Given the description of an element on the screen output the (x, y) to click on. 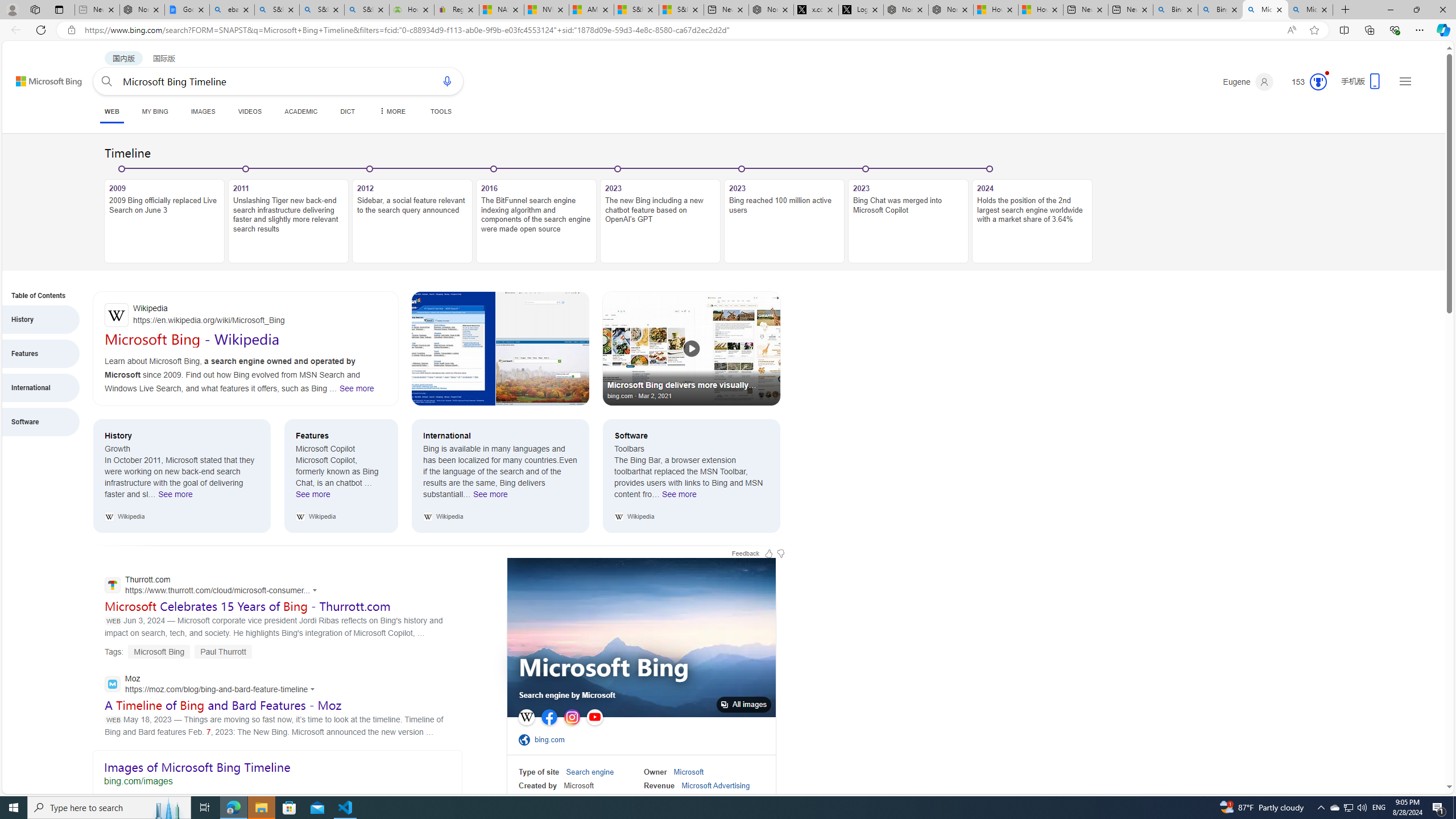
Type of site (538, 772)
2023 Bing Chat was merged into Microsoft Copilot (908, 220)
2023 Bing reached 100 million active users (784, 220)
S&P 500 index financial crisis decline - Search (366, 9)
2023Bing Chat was merged into Microsoft Copilot (908, 214)
Owner (654, 772)
Log in to X / X (861, 9)
TOOLS (440, 111)
Actions for this site (314, 689)
All images (743, 704)
